Given the description of an element on the screen output the (x, y) to click on. 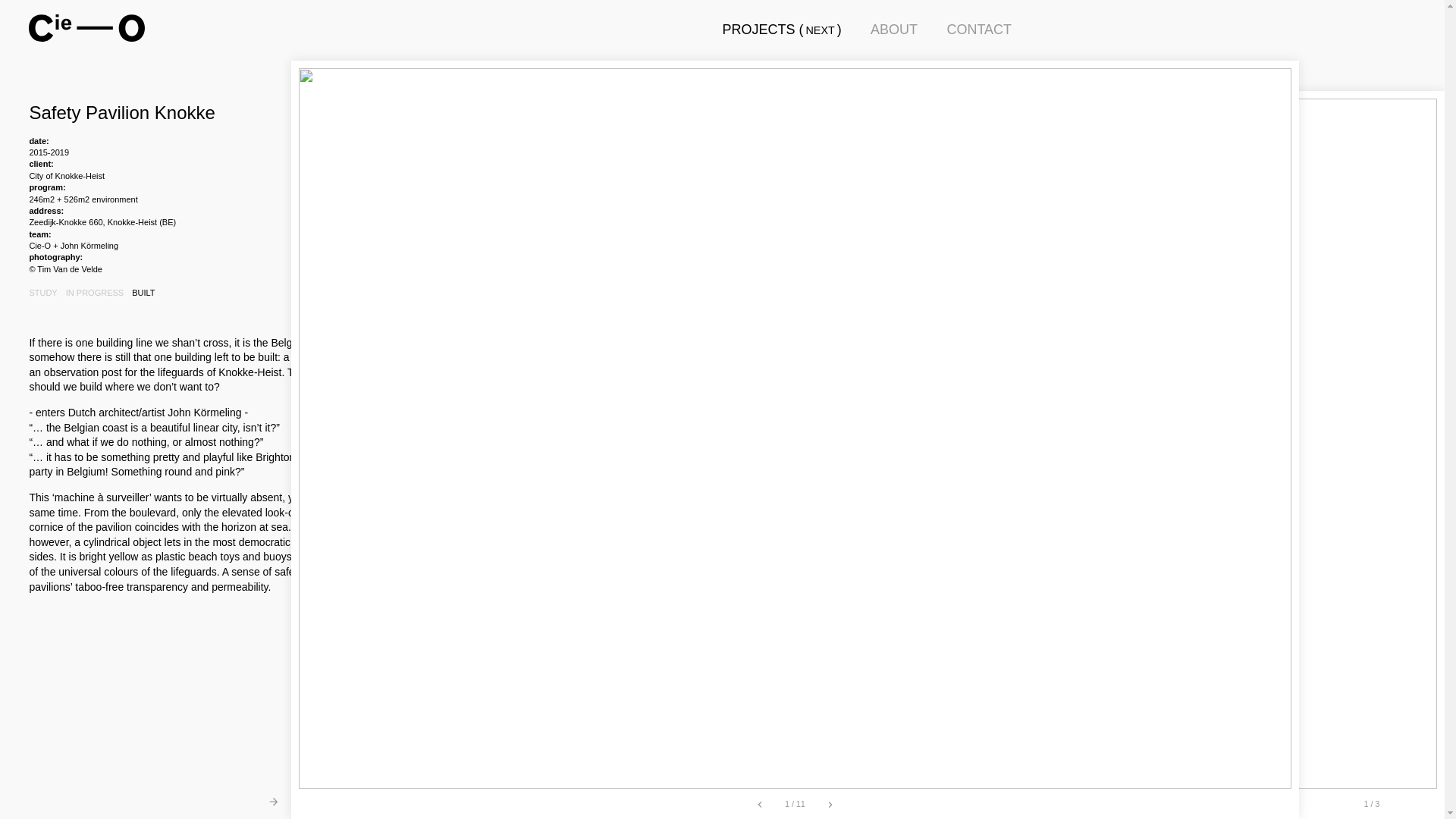
NEXT Element type: text (819, 30)
CONTACT Element type: text (978, 29)
PROJECTS Element type: text (757, 29)
ABOUT Element type: text (893, 29)
